Given the description of an element on the screen output the (x, y) to click on. 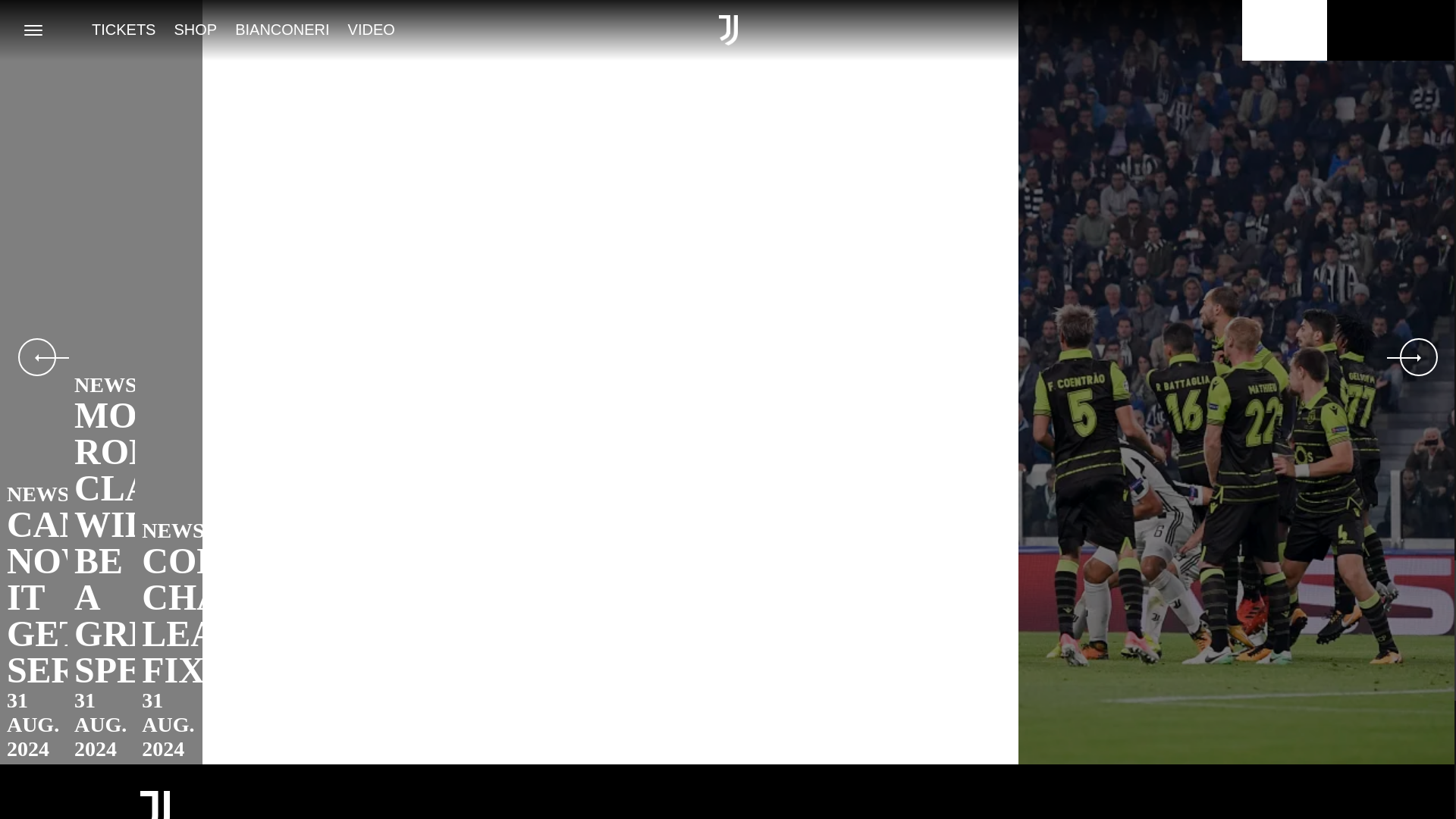
Link To Homepage (154, 805)
Threads (1104, 811)
Instagram (1064, 811)
Facebook (1025, 811)
Youtube (1144, 811)
